Given the description of an element on the screen output the (x, y) to click on. 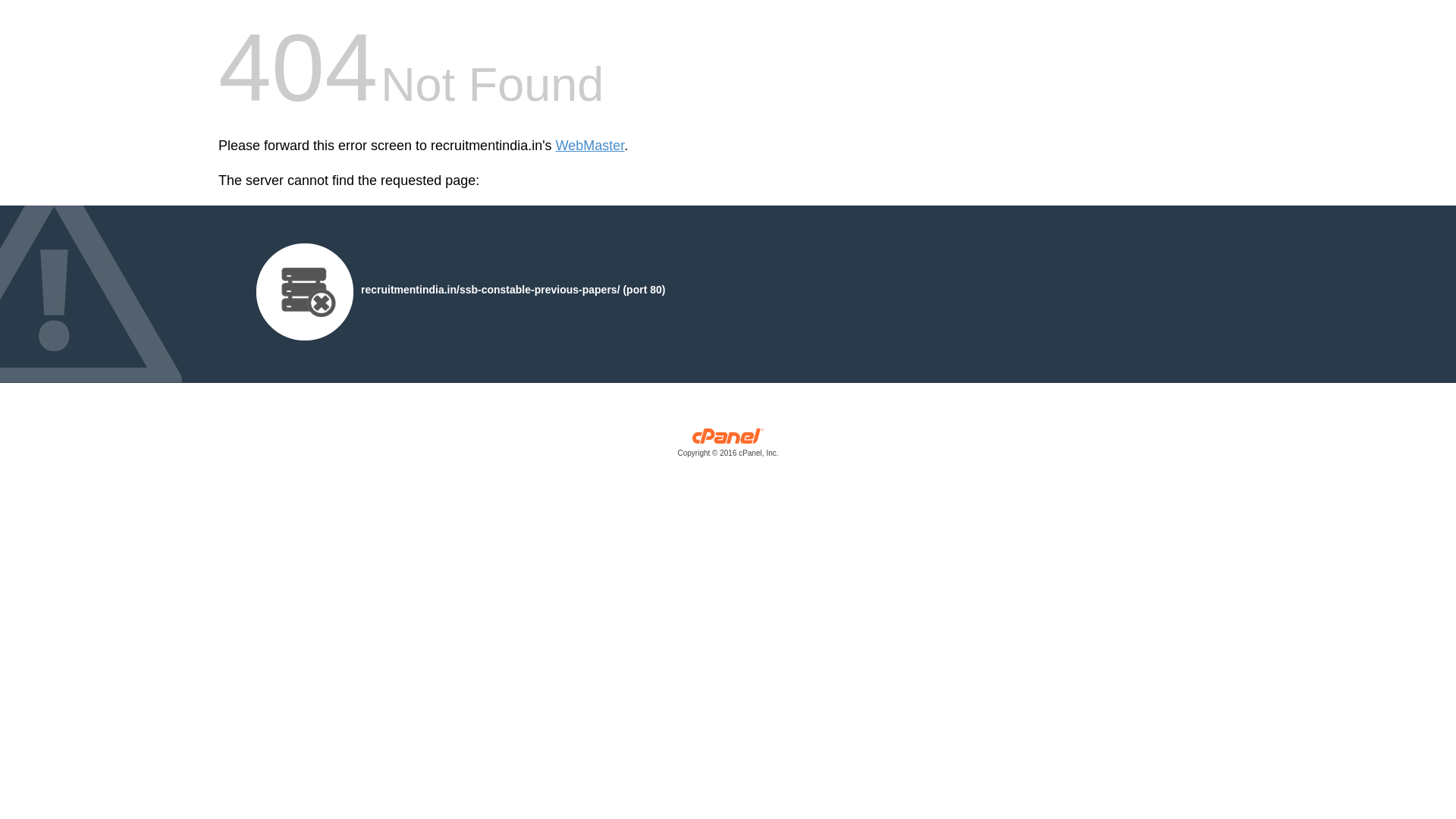
cPanel, Inc. (727, 446)
WebMaster (590, 145)
